Given the description of an element on the screen output the (x, y) to click on. 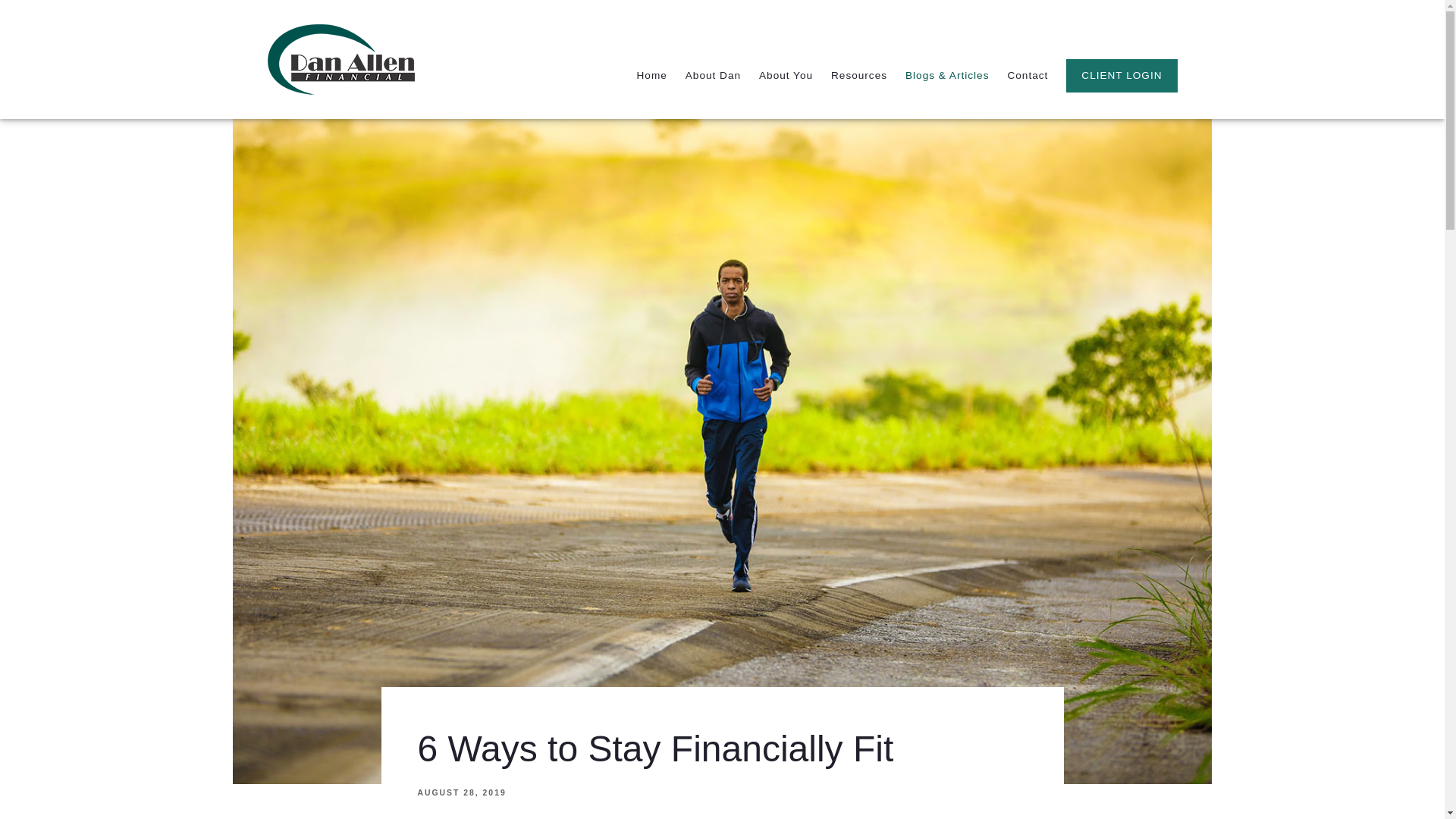
Contact (1027, 75)
Resources (858, 75)
CLIENT LOGIN (1120, 75)
About You (785, 75)
About Dan (713, 75)
